Given the description of an element on the screen output the (x, y) to click on. 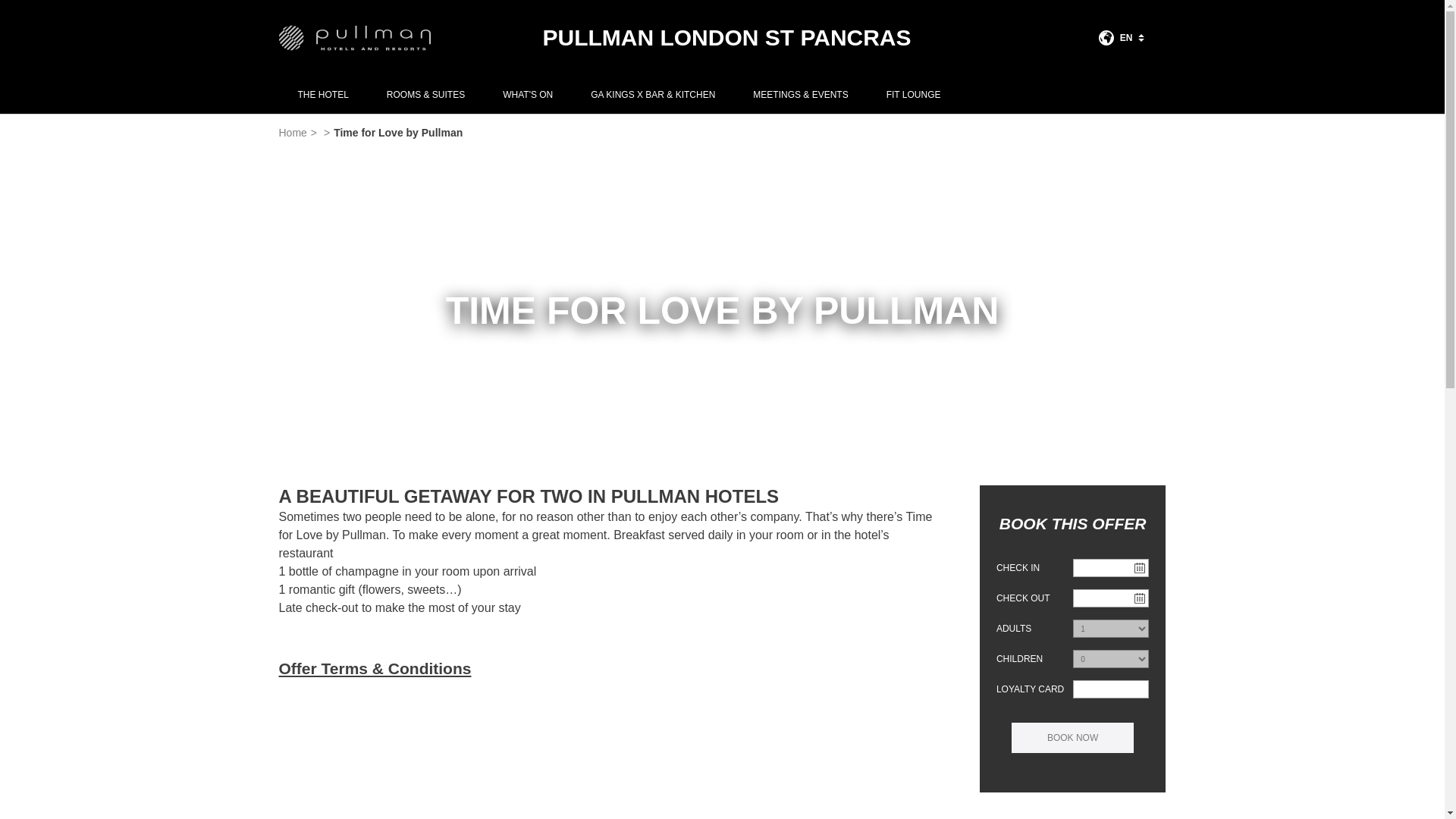
Home (293, 132)
WHAT'S ON (527, 94)
Home (293, 132)
THE HOTEL (323, 94)
FIT LOUNGE (913, 94)
EN (1121, 38)
Book Now (1072, 737)
Book Now (1072, 737)
